Given the description of an element on the screen output the (x, y) to click on. 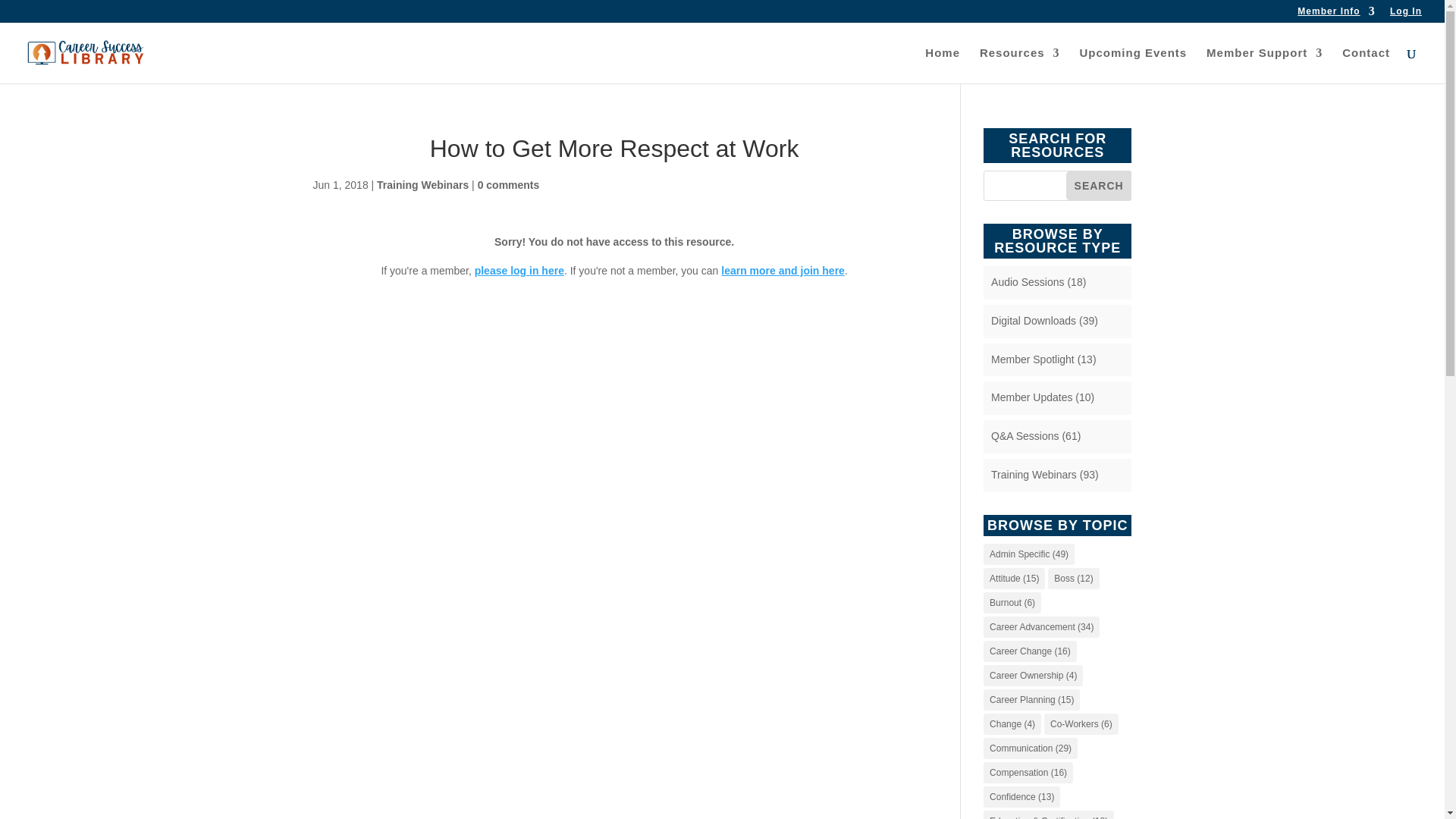
Home (941, 65)
Member Support (1264, 65)
Member Spotlight (1032, 358)
0 comments (508, 184)
Search (1098, 185)
please log in here (519, 270)
Search (1098, 185)
Log In (1406, 14)
Member Info (1335, 14)
Upcoming Events (1134, 65)
Training Webinars (1034, 474)
Digital Downloads (1033, 320)
learn more and join here (782, 270)
Contact (1366, 65)
Training Webinars (422, 184)
